Given the description of an element on the screen output the (x, y) to click on. 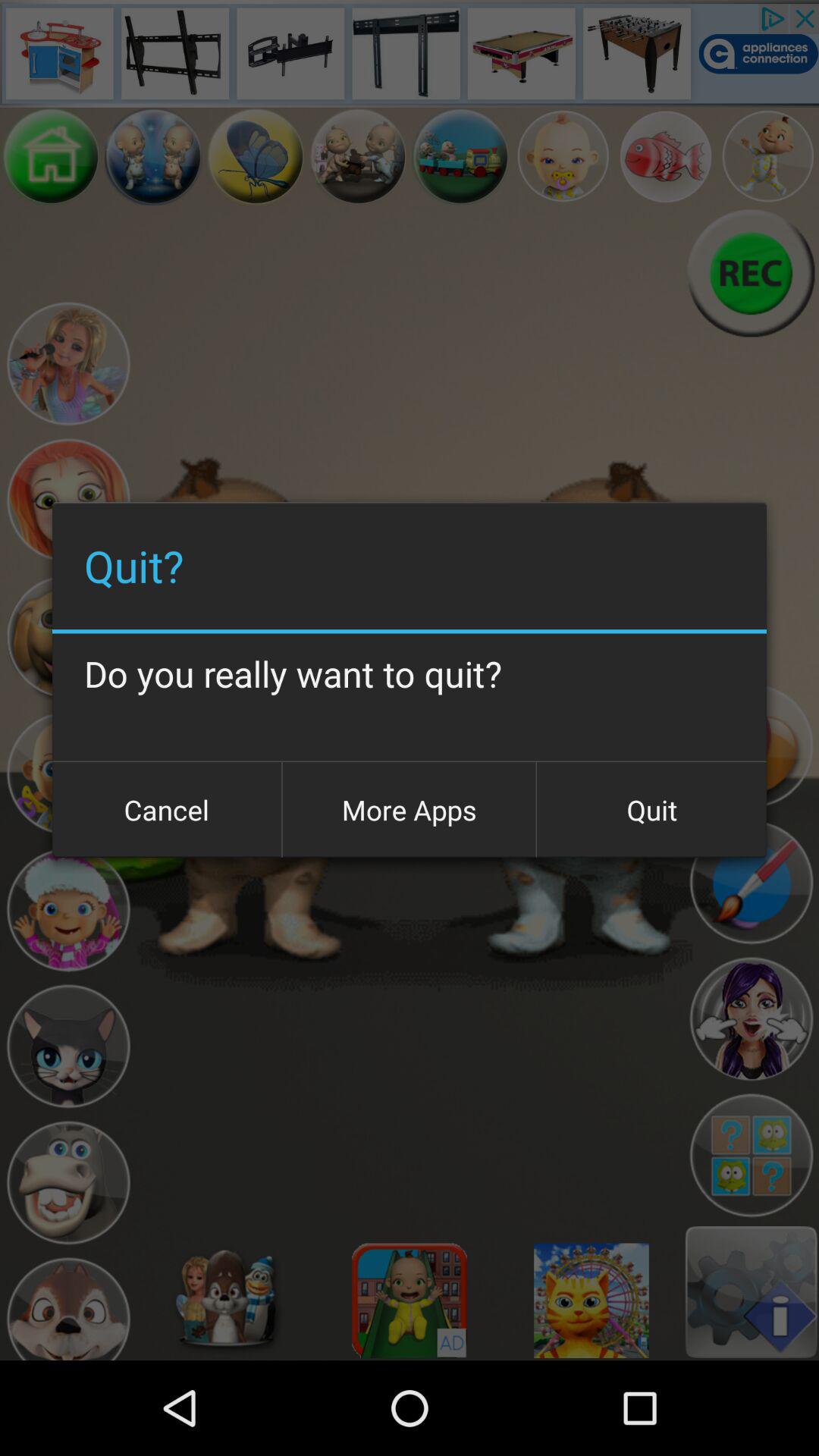
select the option (68, 909)
